Given the description of an element on the screen output the (x, y) to click on. 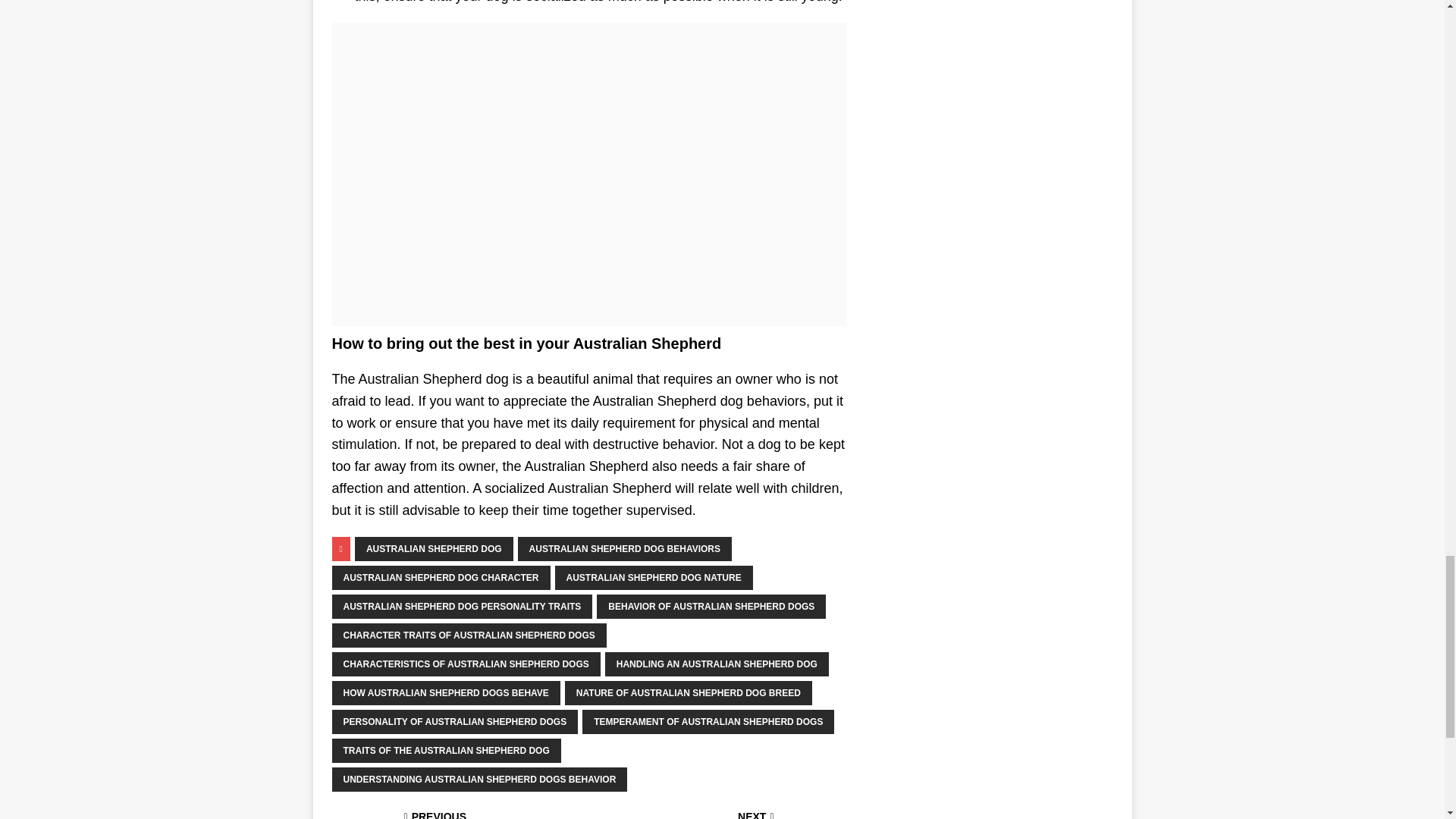
UNDERSTANDING AUSTRALIAN SHEPHERD DOGS BEHAVIOR (479, 779)
AUSTRALIAN SHEPHERD DOG BEHAVIORS (625, 549)
HOW AUSTRALIAN SHEPHERD DOGS BEHAVE (445, 692)
BEHAVIOR OF AUSTRALIAN SHEPHERD DOGS (457, 815)
AUSTRALIAN SHEPHERD DOG CHARACTER (710, 606)
HANDLING AN AUSTRALIAN SHEPHERD DOG (440, 577)
AUSTRALIAN SHEPHERD DOG NATURE (716, 663)
AUSTRALIAN SHEPHERD DOG PERSONALITY TRAITS (653, 577)
NATURE OF AUSTRALIAN SHEPHERD DOG BREED (461, 606)
